Given the description of an element on the screen output the (x, y) to click on. 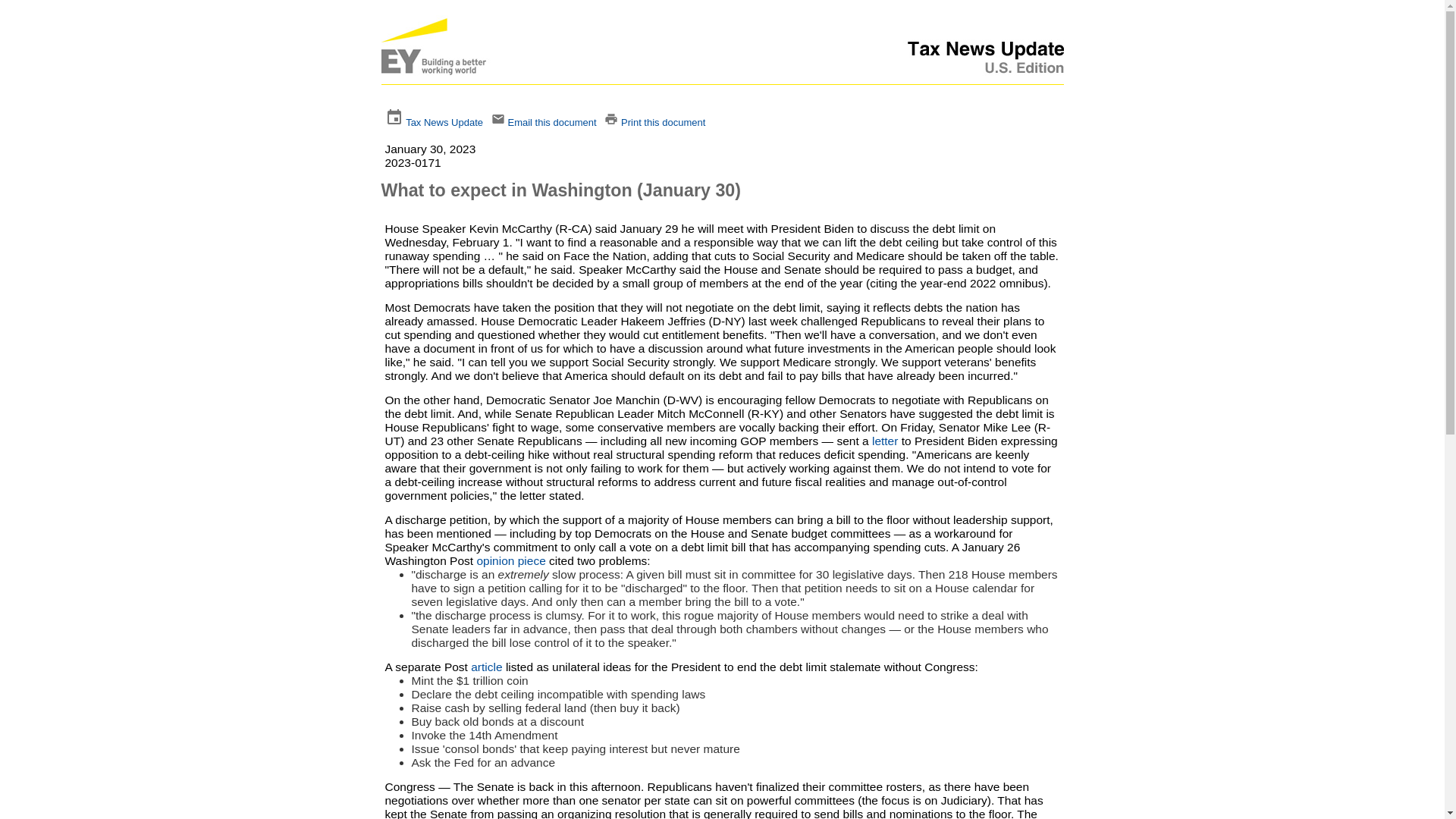
Tax News Update (444, 122)
Print this document (662, 122)
article (486, 666)
letter (885, 440)
opinion piece (510, 560)
Email this document (550, 122)
